Given the description of an element on the screen output the (x, y) to click on. 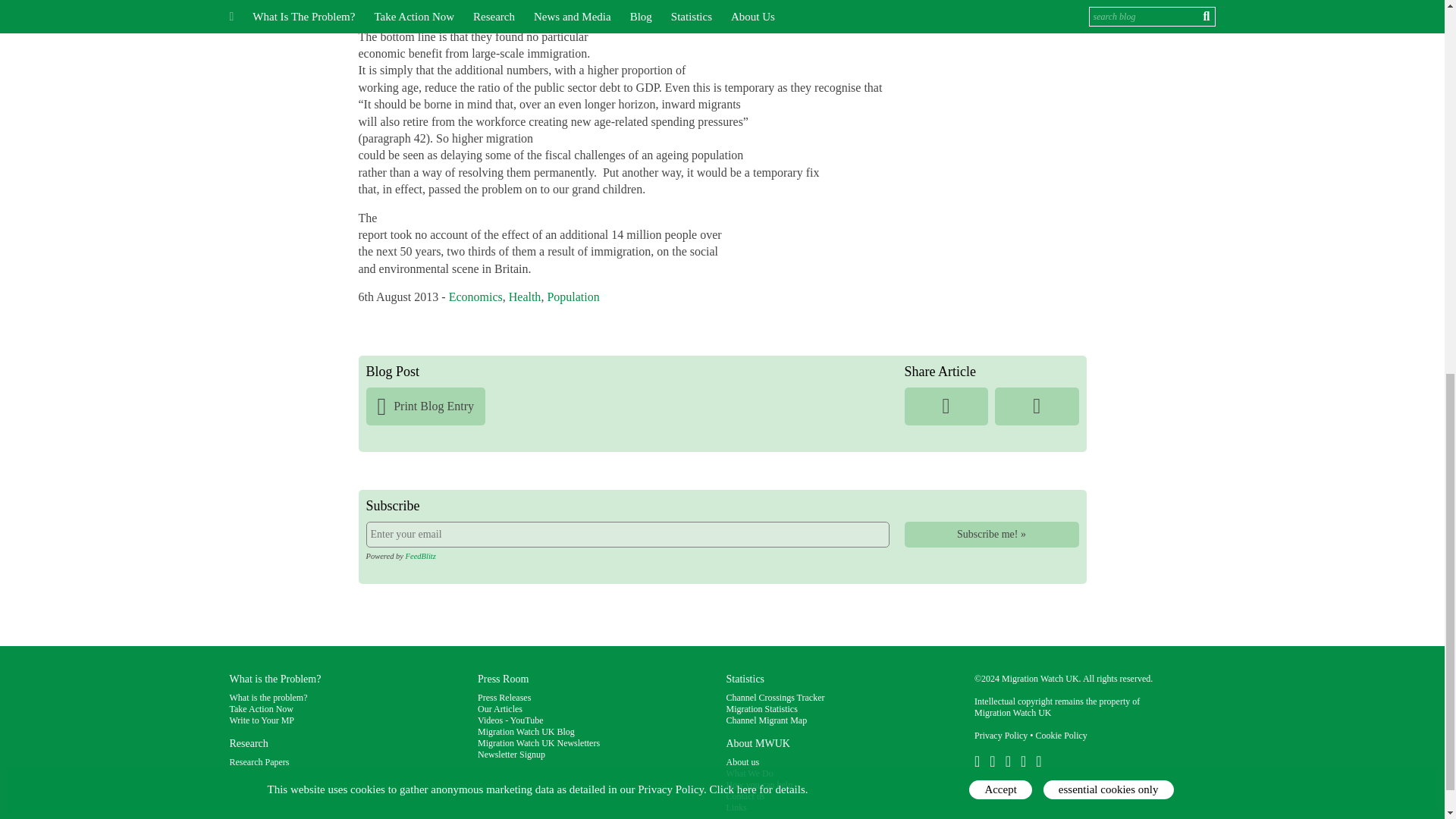
Take Action Now (260, 707)
FeedBlitz (420, 555)
Economics (475, 296)
Tweet this Article (1036, 406)
Print Blog Entry (424, 406)
What is the problem? (267, 697)
Population (572, 296)
Write to Your MP (261, 719)
Research Papers (258, 760)
Share on Facebook (945, 406)
Health (524, 296)
Our Articles (499, 707)
Press Releases (504, 697)
